Given the description of an element on the screen output the (x, y) to click on. 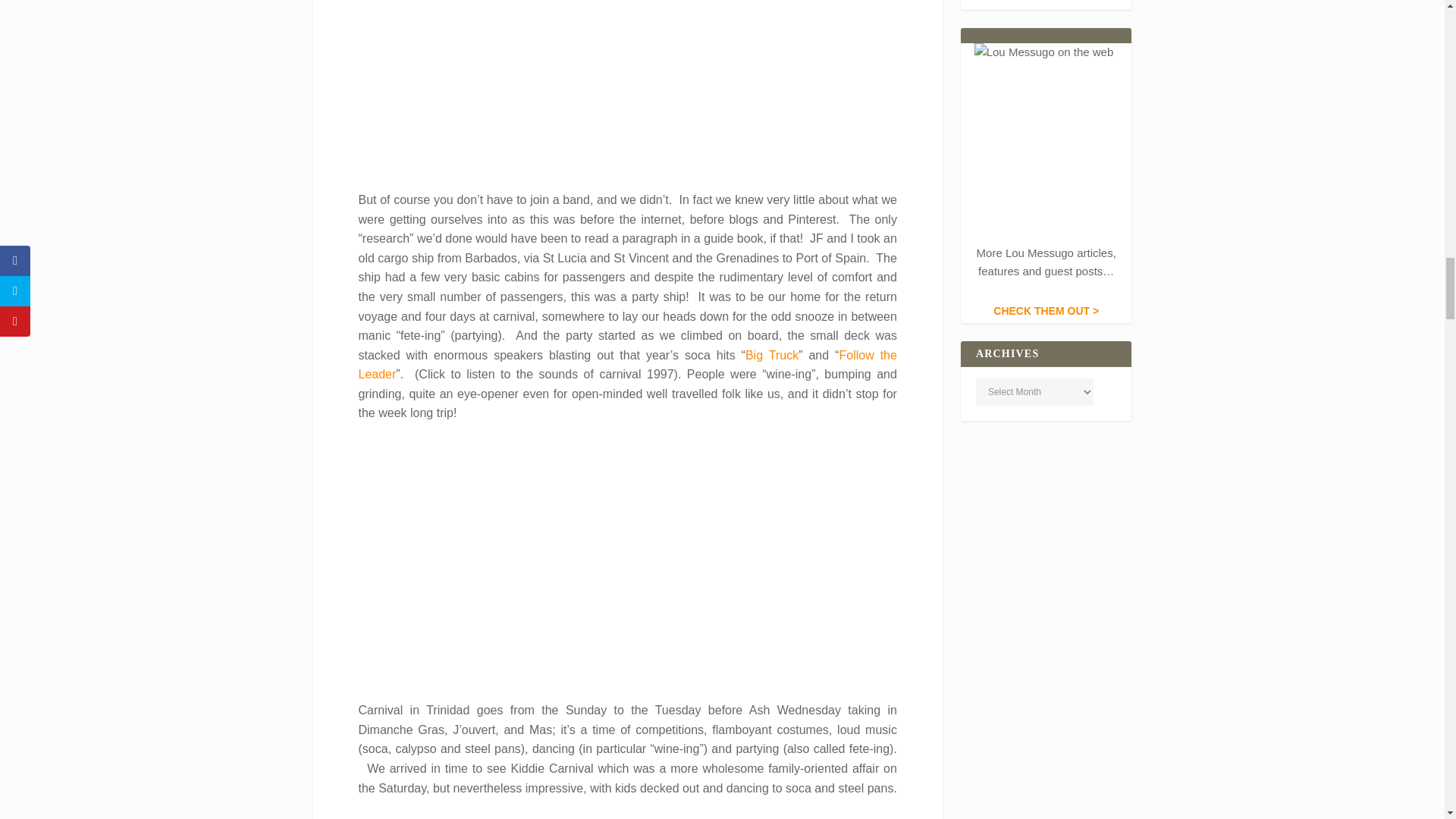
Follow the Leader (627, 364)
Big Truck (771, 354)
